Given the description of an element on the screen output the (x, y) to click on. 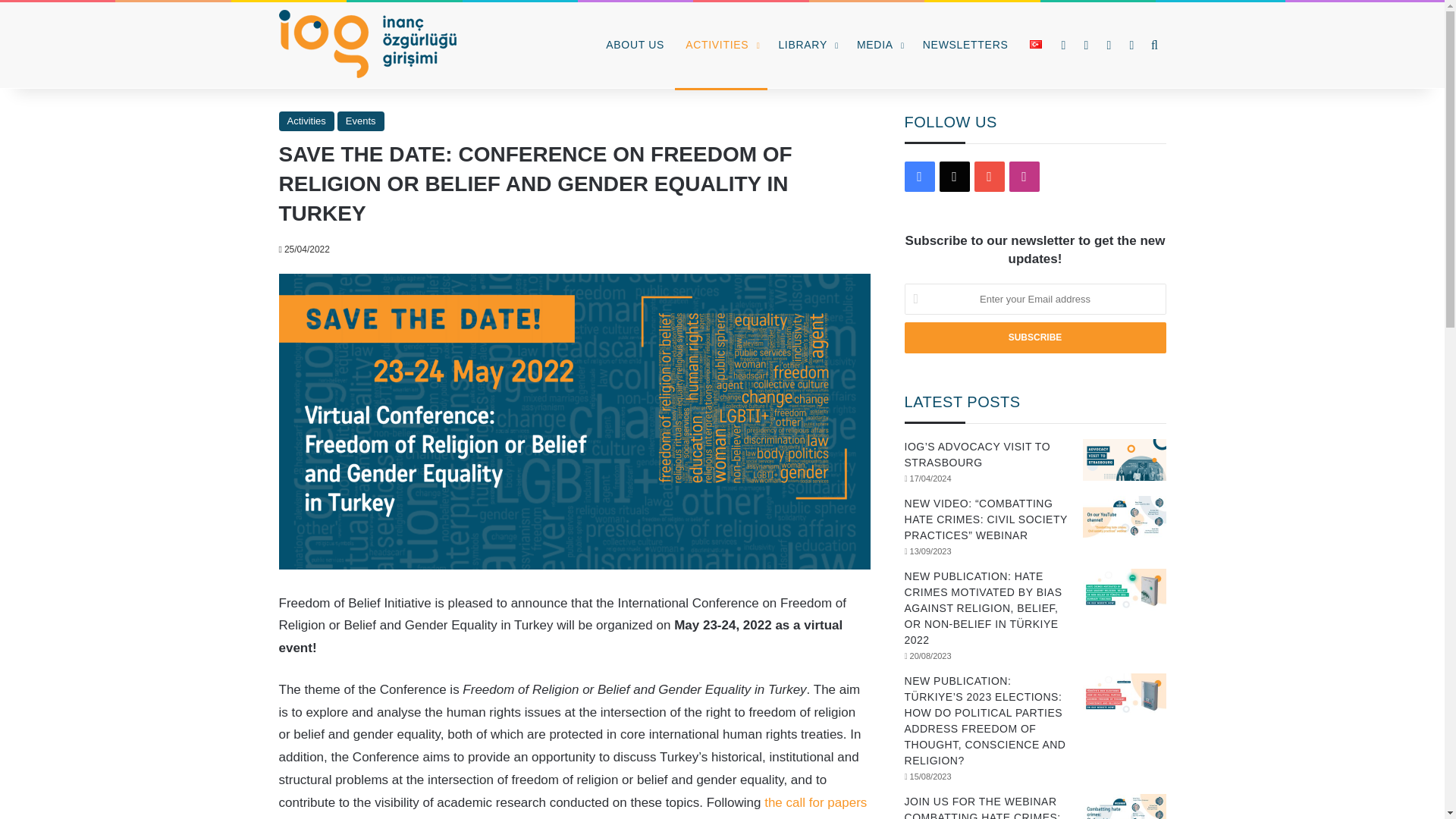
the call for papers (815, 802)
Events (360, 121)
NEWSLETTERS (965, 44)
Activities (306, 121)
ABOUT US (635, 44)
ACTIVITIES (721, 44)
LIBRARY (806, 44)
Subscribe (1035, 337)
